Given the description of an element on the screen output the (x, y) to click on. 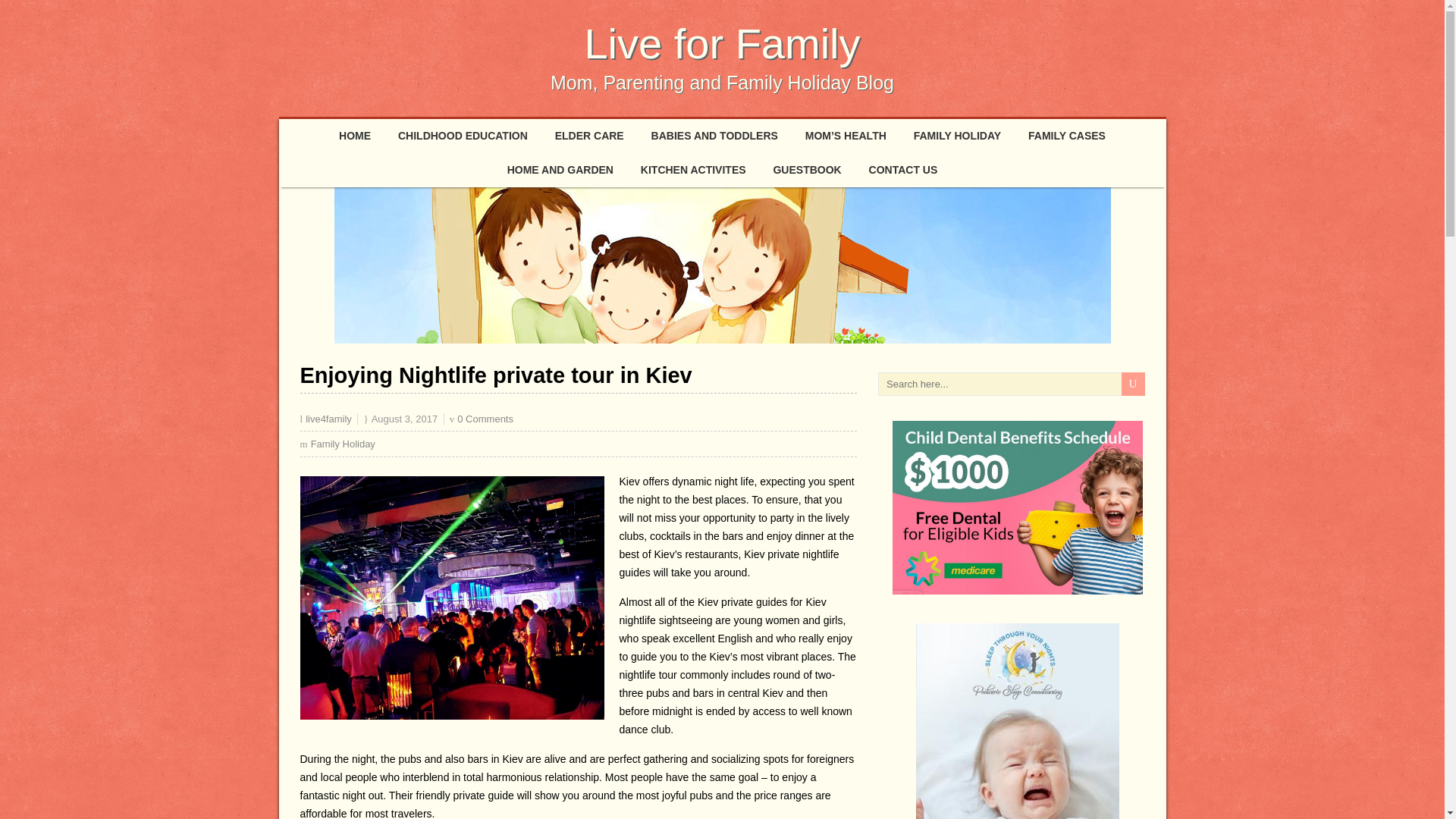
GUESTBOOK (806, 170)
HOME (354, 135)
ELDER CARE (589, 135)
Family Holiday (343, 443)
HOME AND GARDEN (560, 170)
KITCHEN ACTIVITES (693, 170)
FAMILY CASES (1067, 135)
FAMILY HOLIDAY (957, 135)
live4family (328, 419)
U (1132, 383)
BABIES AND TODDLERS (714, 135)
CHILDHOOD EDUCATION (462, 135)
U (1132, 383)
Live for Family (721, 43)
0 Comments (485, 419)
